Given the description of an element on the screen output the (x, y) to click on. 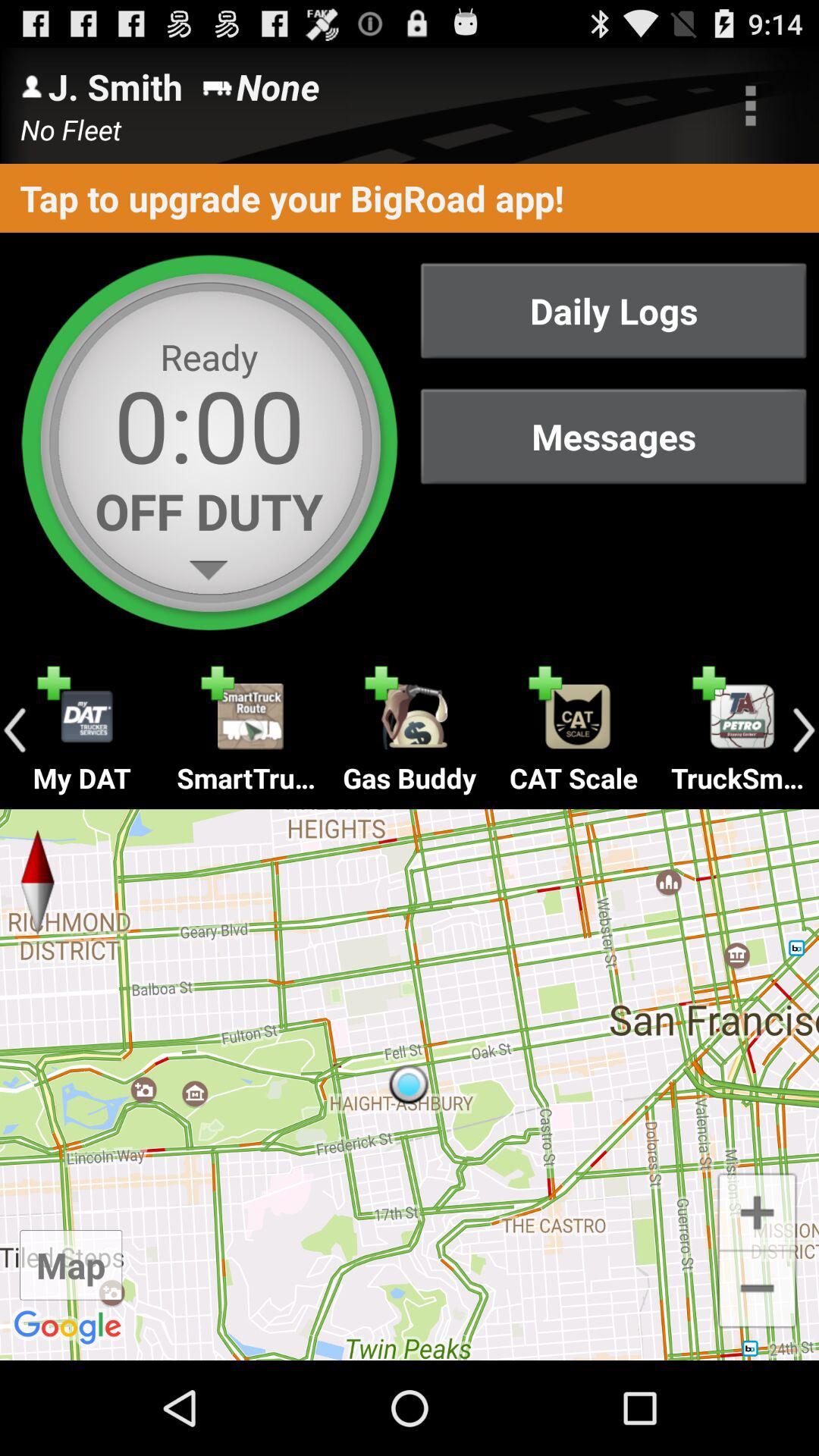
zoom the map (757, 1210)
